Given the description of an element on the screen output the (x, y) to click on. 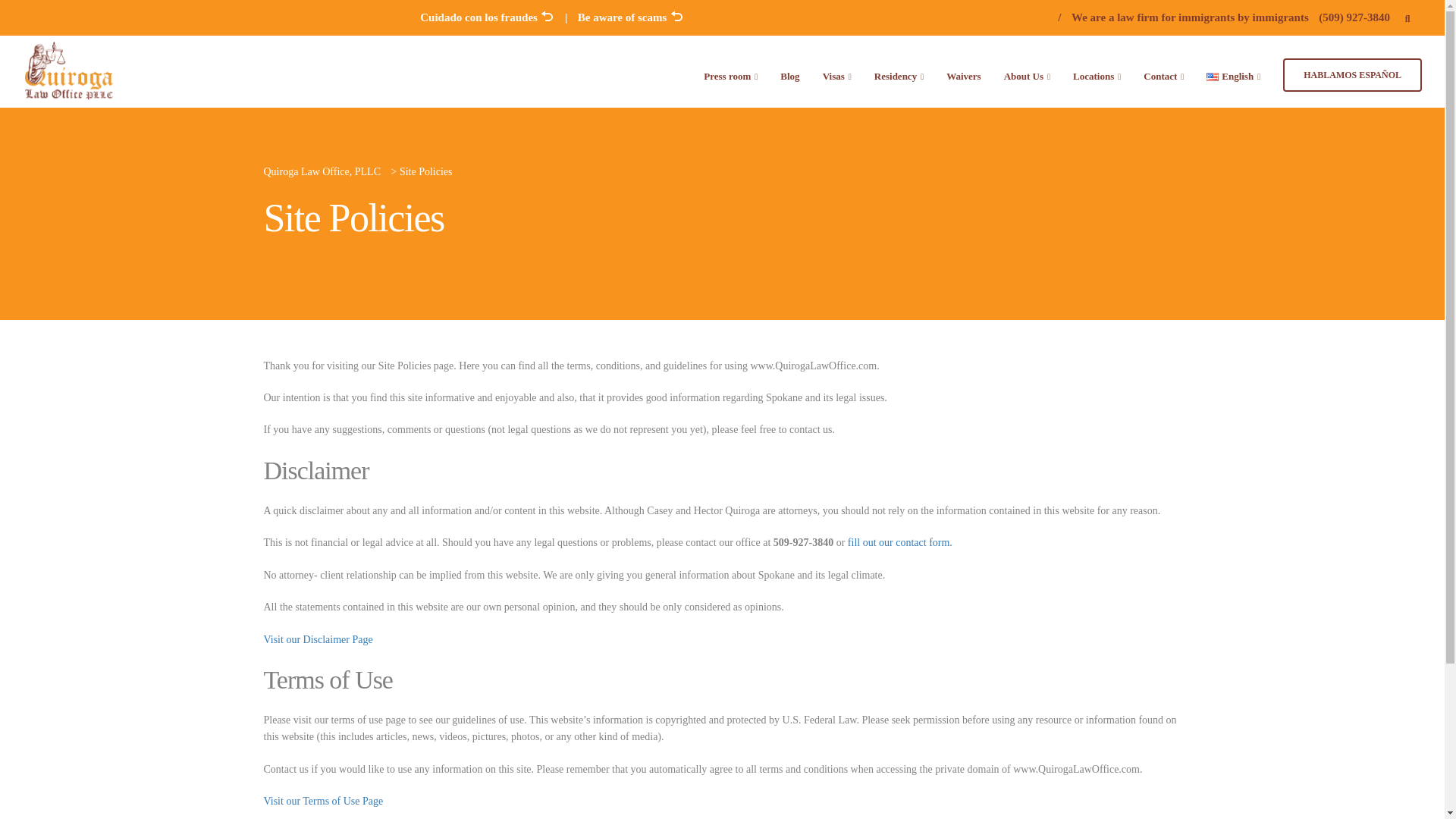
About Us (1026, 74)
Waivers (963, 74)
About Us (1026, 74)
Visas (836, 74)
Visas (836, 74)
Press room (730, 74)
Press room (730, 74)
Locations (1096, 74)
Waivers (963, 74)
Residency (898, 74)
